Given the description of an element on the screen output the (x, y) to click on. 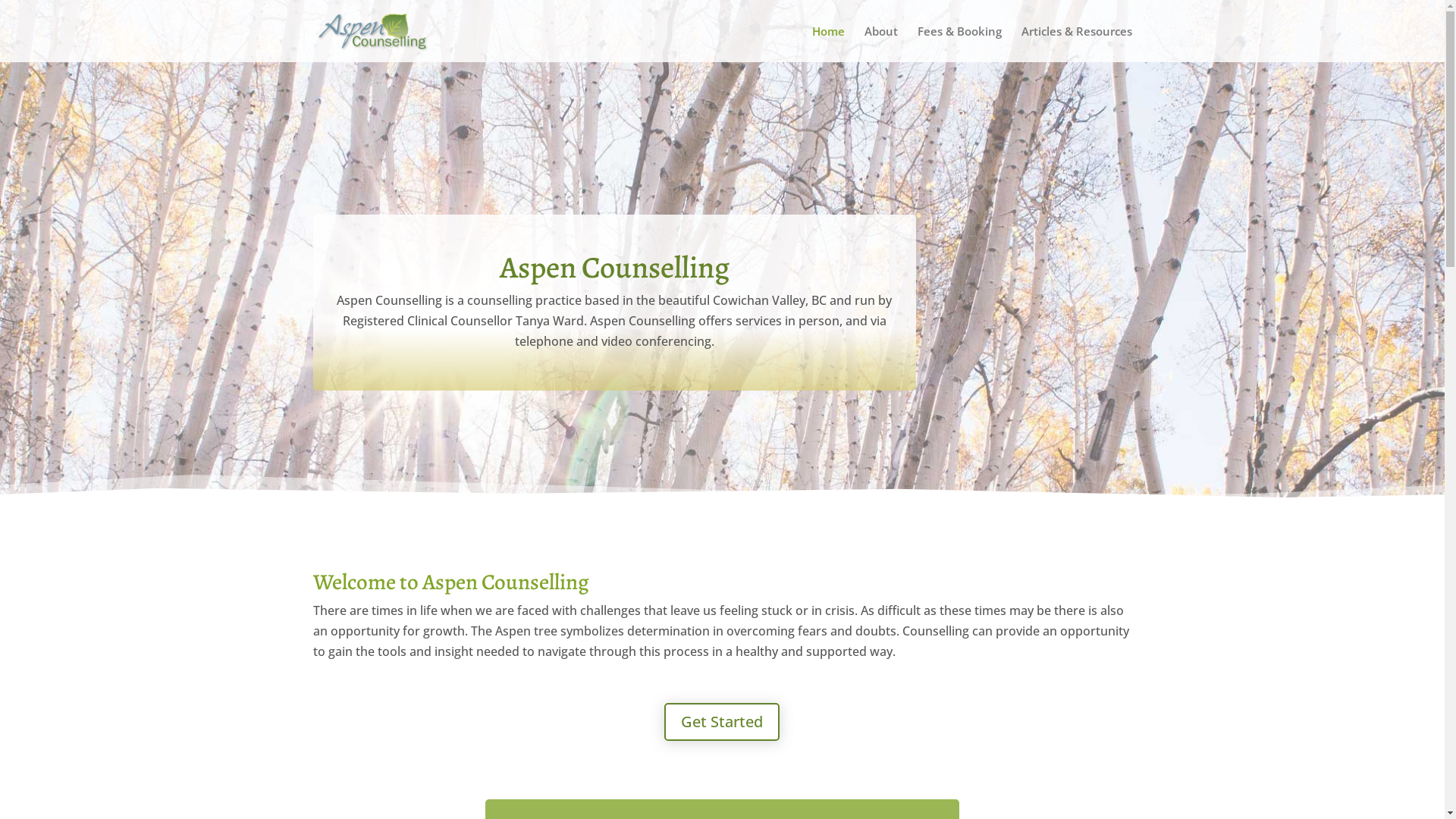
Articles & Resources Element type: text (1075, 43)
Fees & Booking Element type: text (959, 43)
About Element type: text (880, 43)
Home Element type: text (827, 43)
Get Started Element type: text (721, 721)
